Given the description of an element on the screen output the (x, y) to click on. 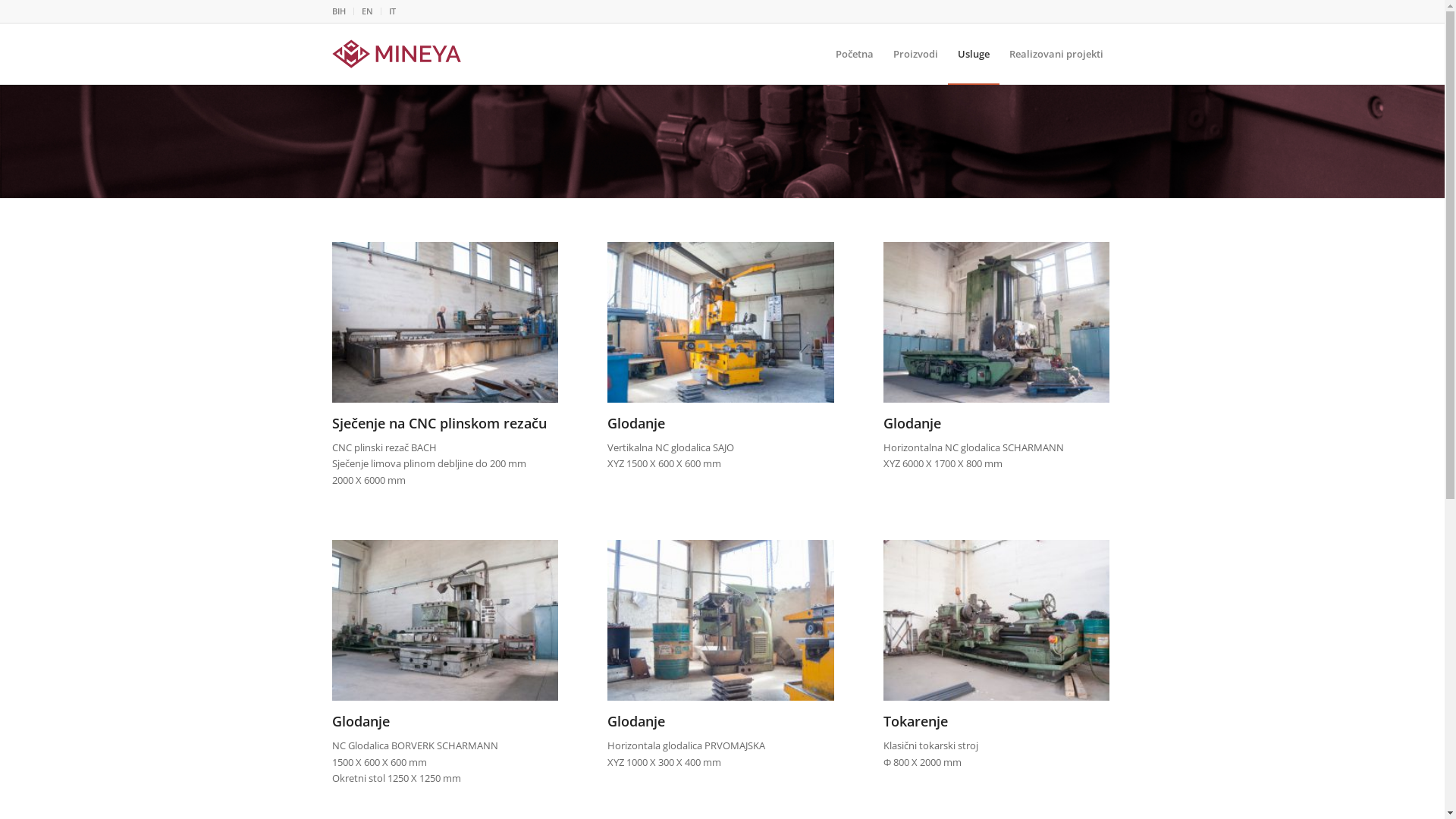
IT Element type: text (391, 10)
03-Busenje Element type: hover (996, 321)
Usluge Element type: text (973, 53)
01-Sjecenje-na-CNC-gasnom-rezacu Element type: hover (445, 321)
04-Tokarenje Element type: hover (996, 619)
08-Stroj2 Element type: hover (720, 619)
BIH Element type: text (338, 10)
EN Element type: text (366, 10)
02-Glodanje Element type: hover (720, 321)
Proizvodi Element type: text (914, 53)
07-Stroj Element type: hover (445, 619)
Realizovani projekti Element type: text (1056, 53)
